Given the description of an element on the screen output the (x, y) to click on. 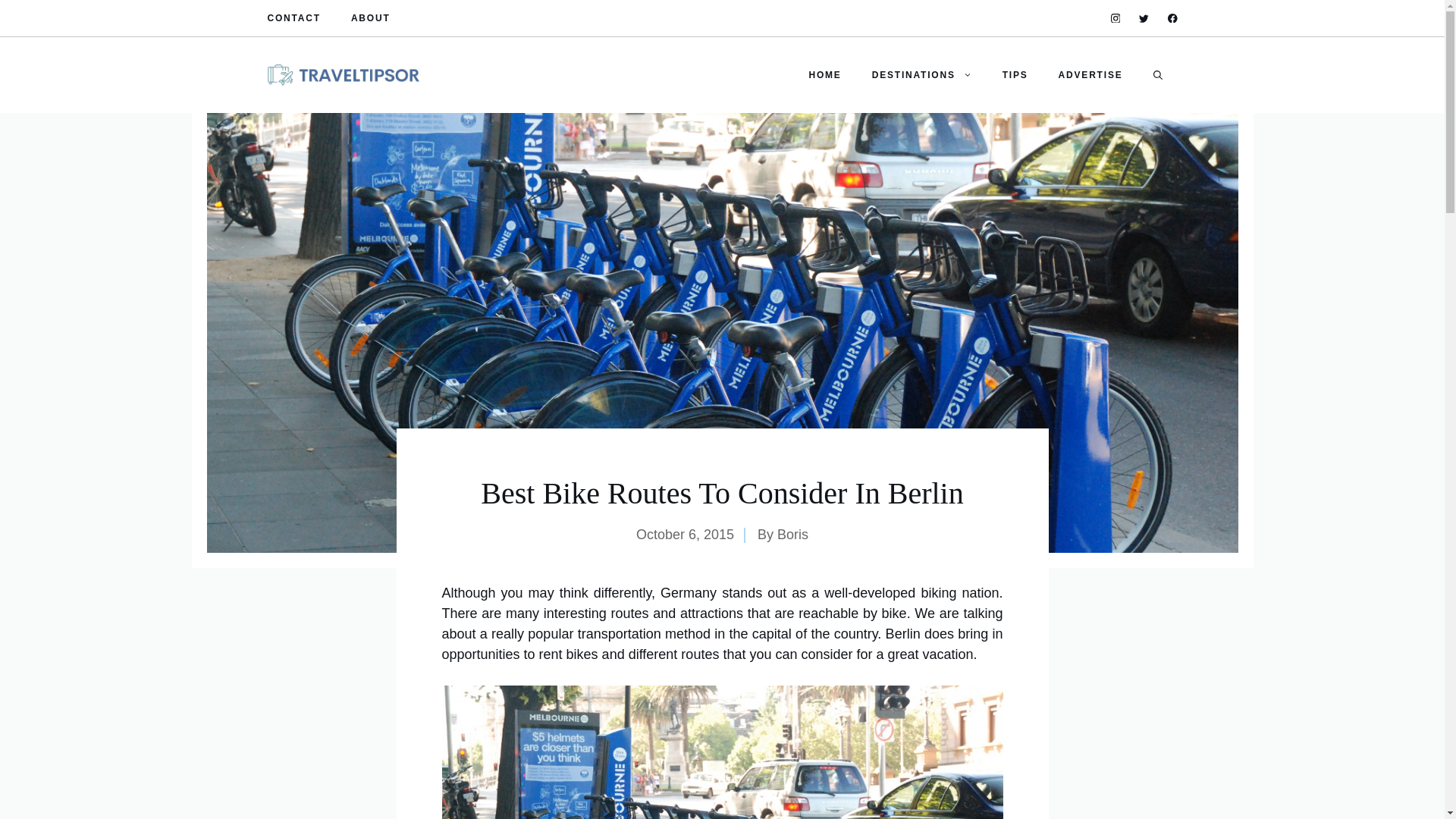
ABOUT (370, 18)
TIPS (1015, 74)
CONTACT (293, 18)
HOME (824, 74)
ADVERTISE (1090, 74)
DESTINATIONS (922, 74)
Boris (792, 534)
